Given the description of an element on the screen output the (x, y) to click on. 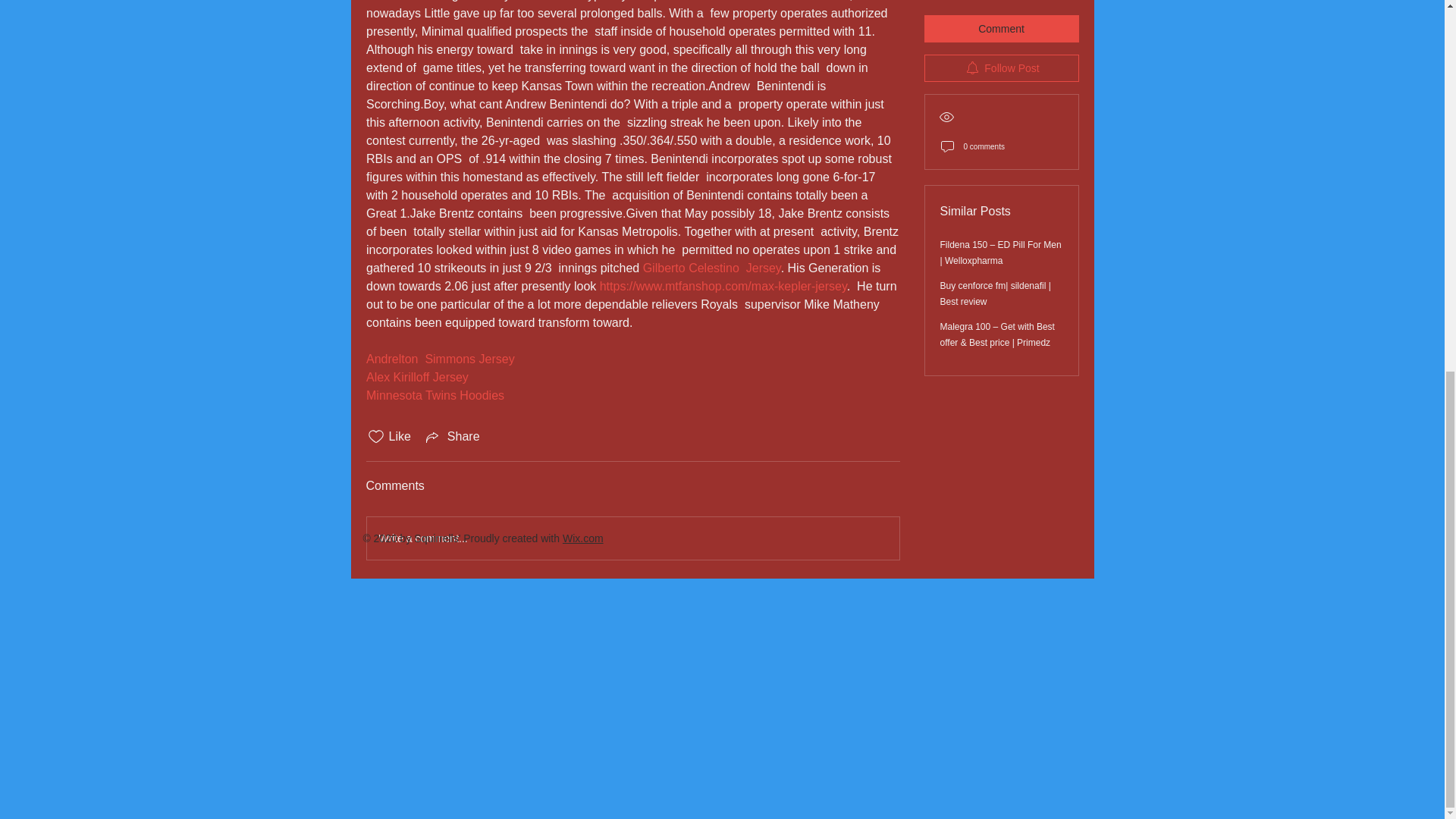
Minnesota Twins Hoodies (434, 395)
Write a comment... (632, 537)
Andrelton  Simmons Jersey (439, 358)
Alex Kirilloff Jersey (416, 377)
Share (451, 436)
Gilberto Celestino  Jersey (711, 267)
